Given the description of an element on the screen output the (x, y) to click on. 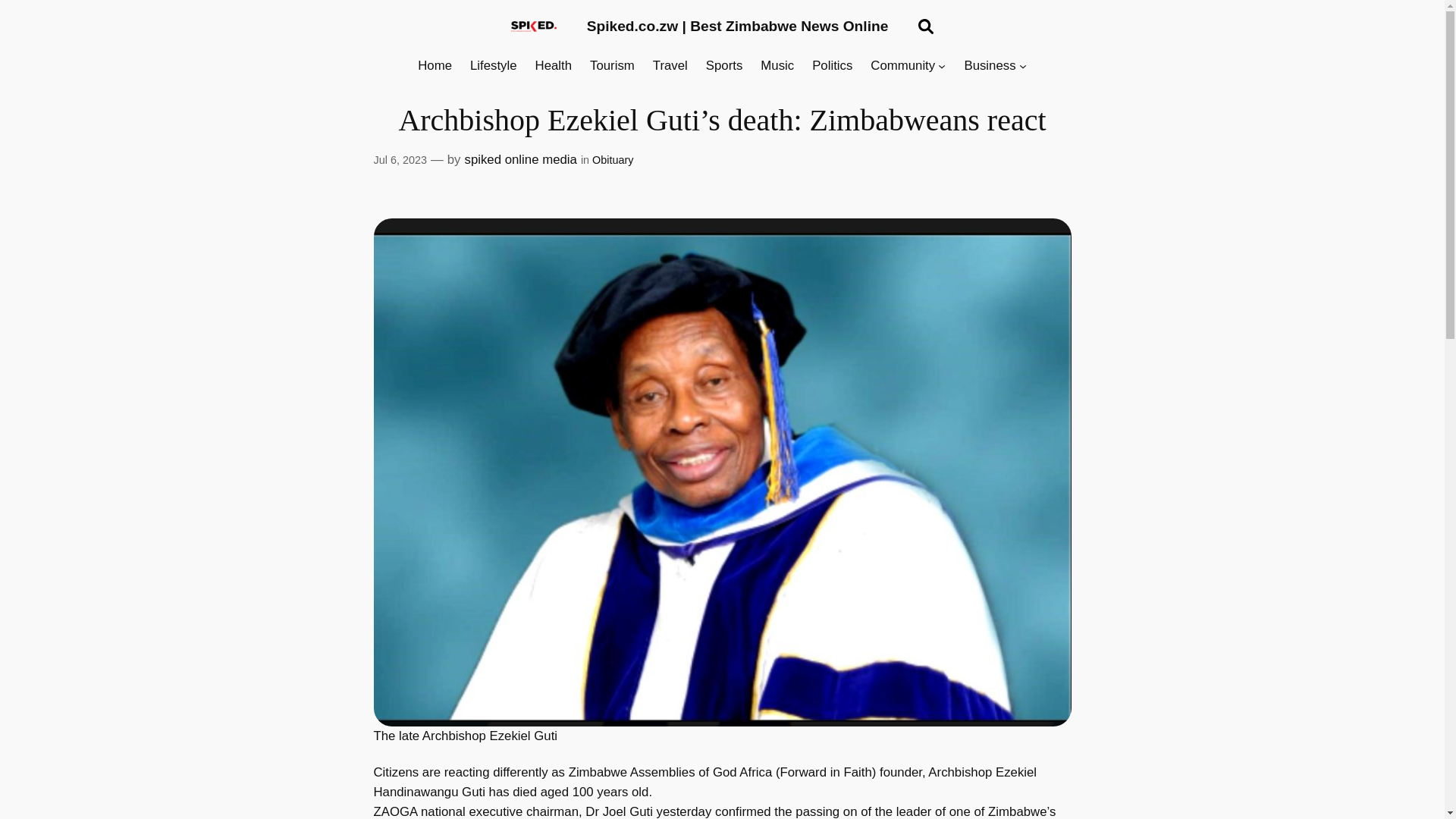
Health (553, 66)
Music (776, 66)
Jul 6, 2023 (399, 159)
Home (434, 66)
Sports (724, 66)
Business (988, 66)
Tourism (611, 66)
Politics (831, 66)
Travel (669, 66)
Community (902, 66)
Obituary (612, 159)
Lifestyle (493, 66)
